Given the description of an element on the screen output the (x, y) to click on. 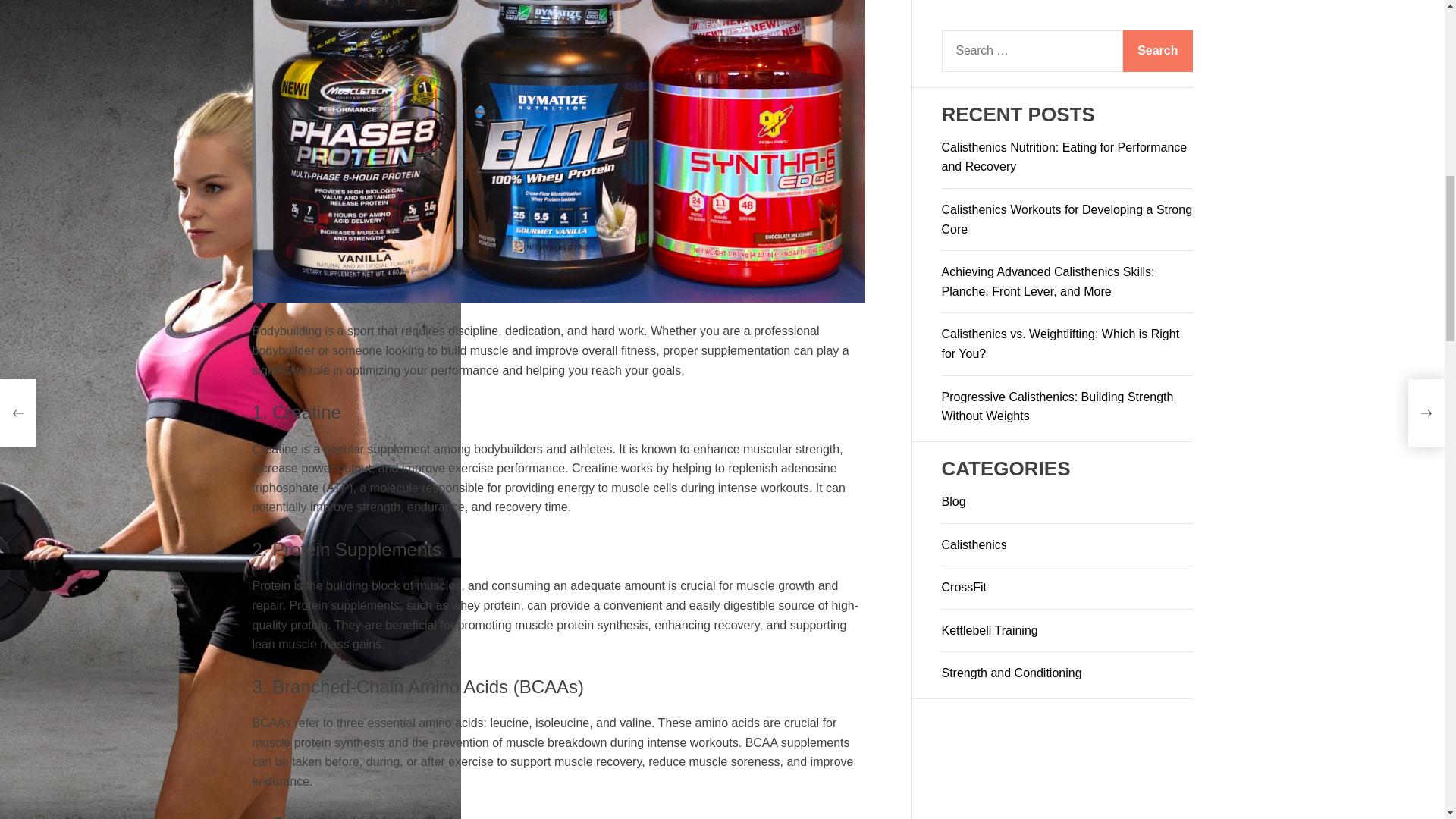
Blog (954, 54)
Calisthenics (974, 97)
Kettlebell Training (990, 183)
CrossFit (964, 140)
Strength and Conditioning (1011, 226)
